Given the description of an element on the screen output the (x, y) to click on. 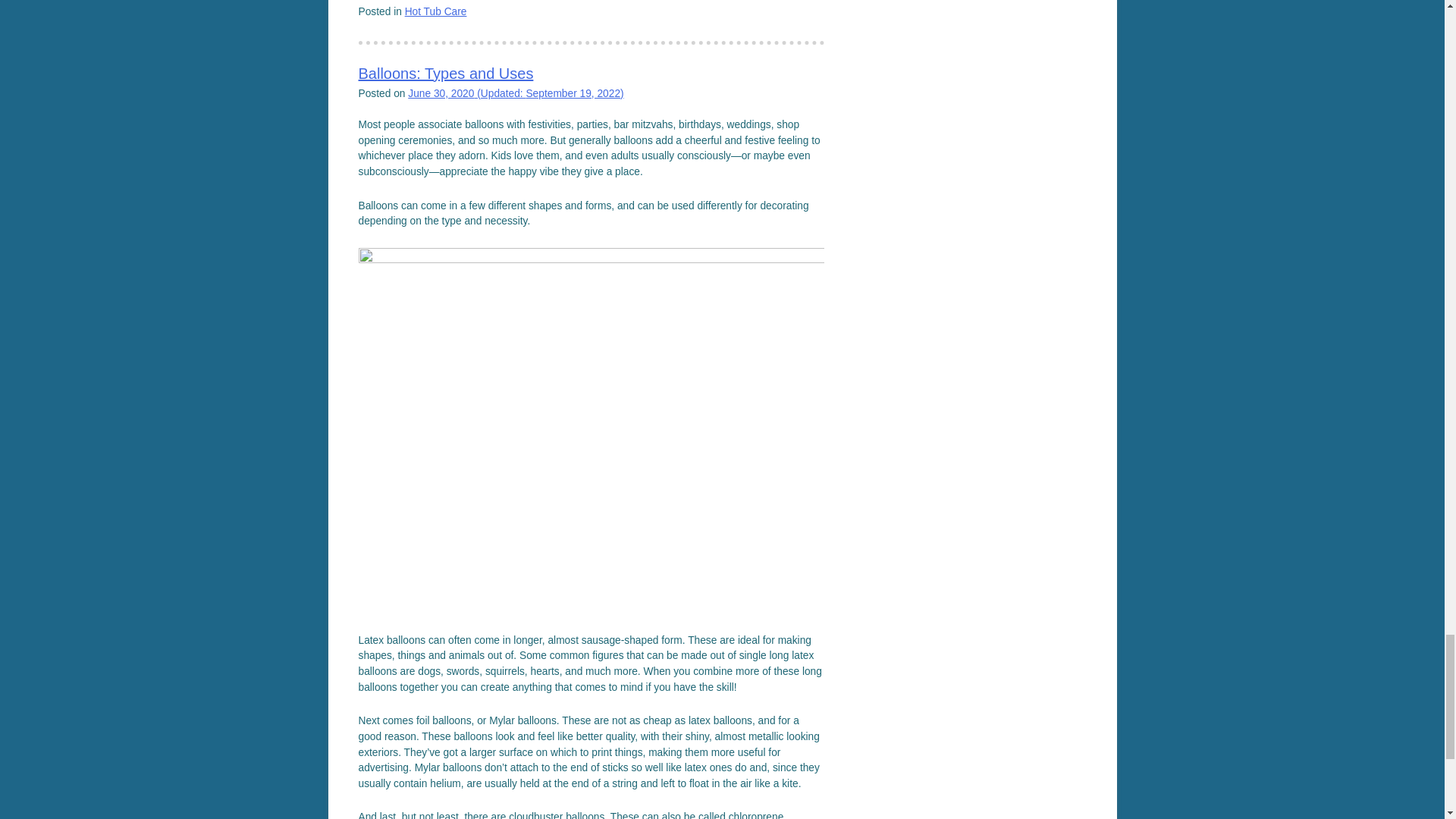
Balloons: Types and Uses (445, 73)
Hot Tub Care (435, 11)
